Given the description of an element on the screen output the (x, y) to click on. 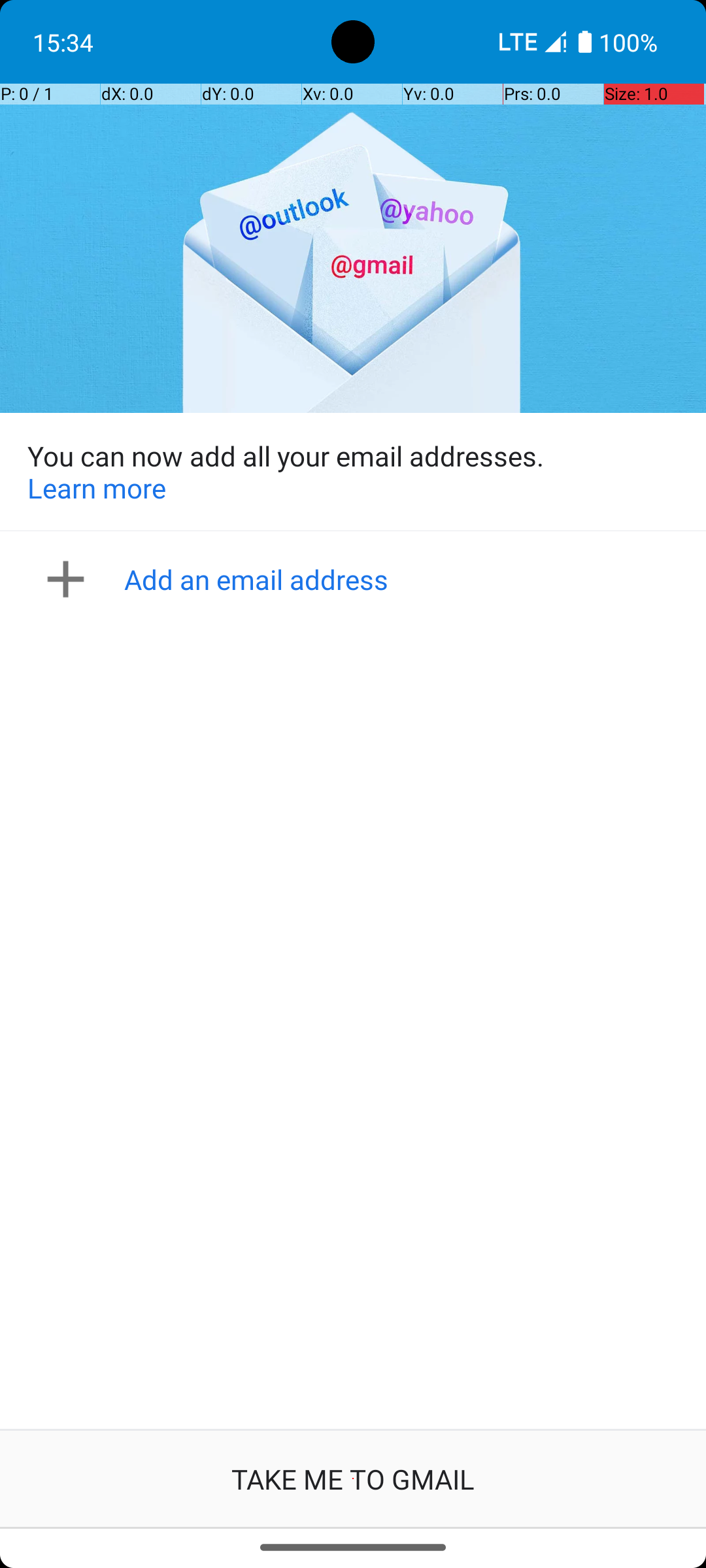
You can now add all your email addresses. Learn more Element type: android.widget.TextView (352, 471)
TAKE ME TO GMAIL Element type: android.widget.TextView (353, 1478)
Add an email address Element type: android.widget.TextView (356, 579)
